Given the description of an element on the screen output the (x, y) to click on. 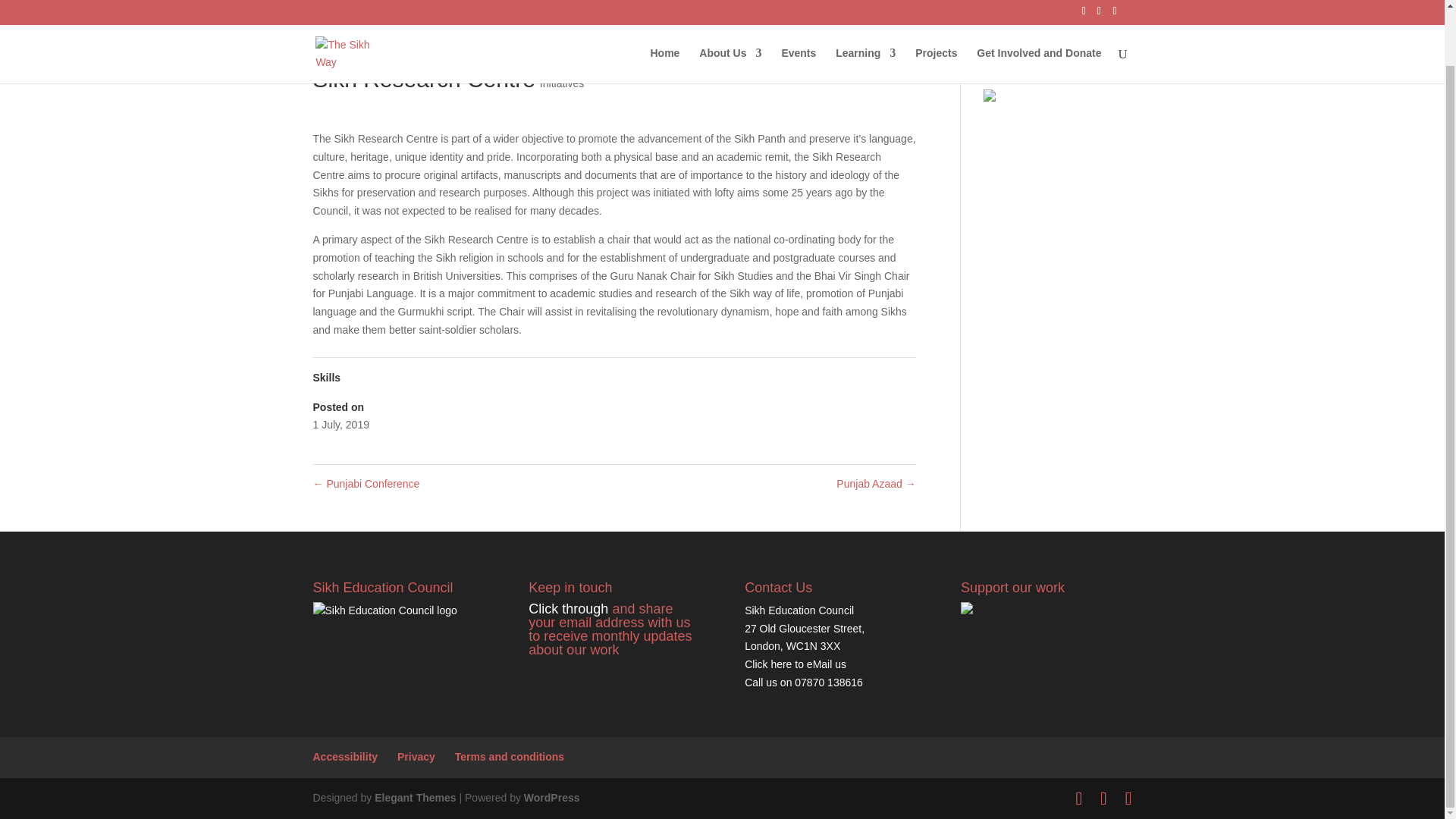
Initiatives (561, 82)
Terms and conditions (509, 756)
WordPress (551, 797)
Premium WordPress Themes (414, 797)
Home (664, 11)
Click through (568, 608)
Elegant Themes (414, 797)
Events (797, 11)
Accessibility (345, 756)
About Us (729, 11)
